Given the description of an element on the screen output the (x, y) to click on. 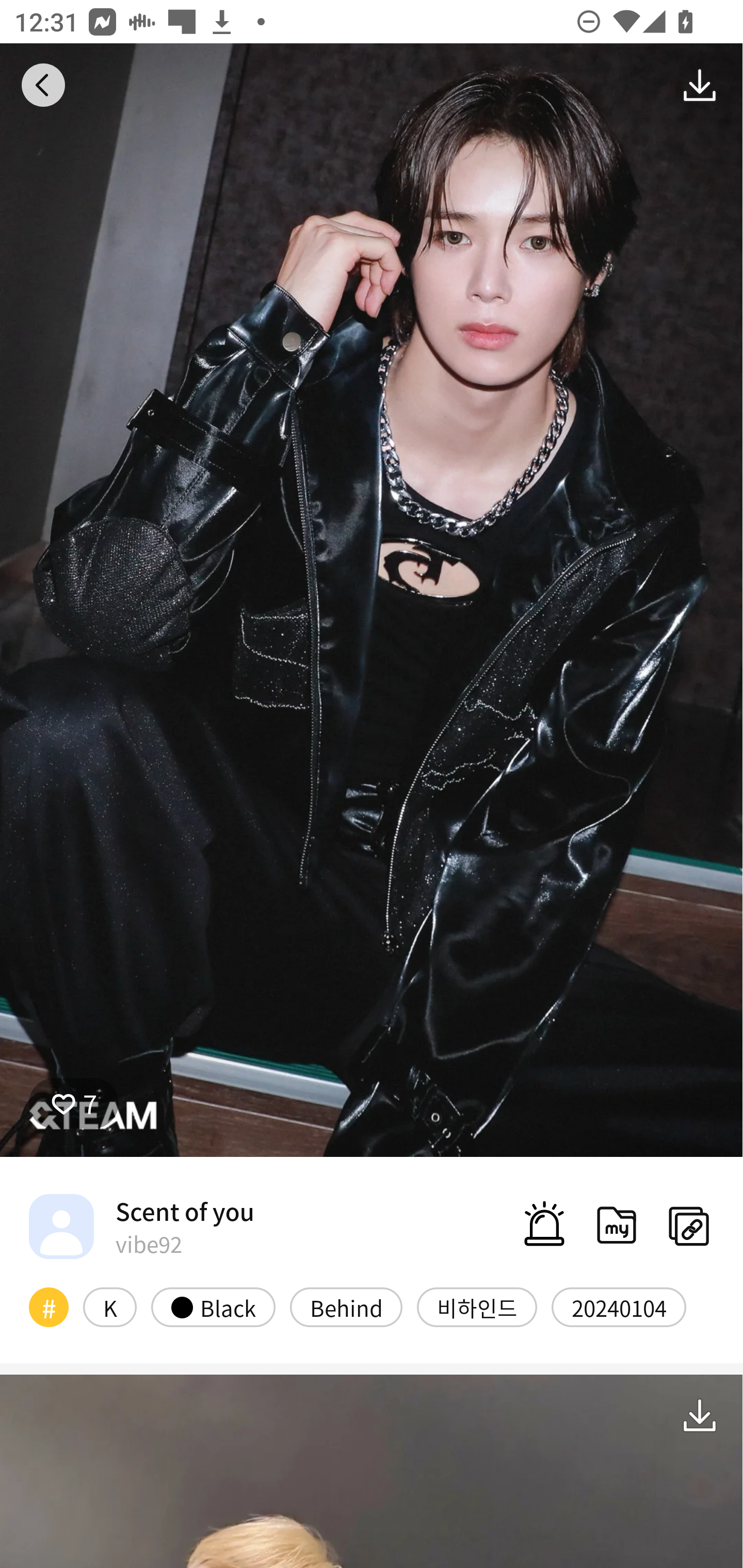
7 (73, 1102)
Scent of you vibe92 (141, 1226)
K (109, 1306)
Black (212, 1306)
Behind (345, 1306)
비하인드 (476, 1306)
20240104 (618, 1306)
